Given the description of an element on the screen output the (x, y) to click on. 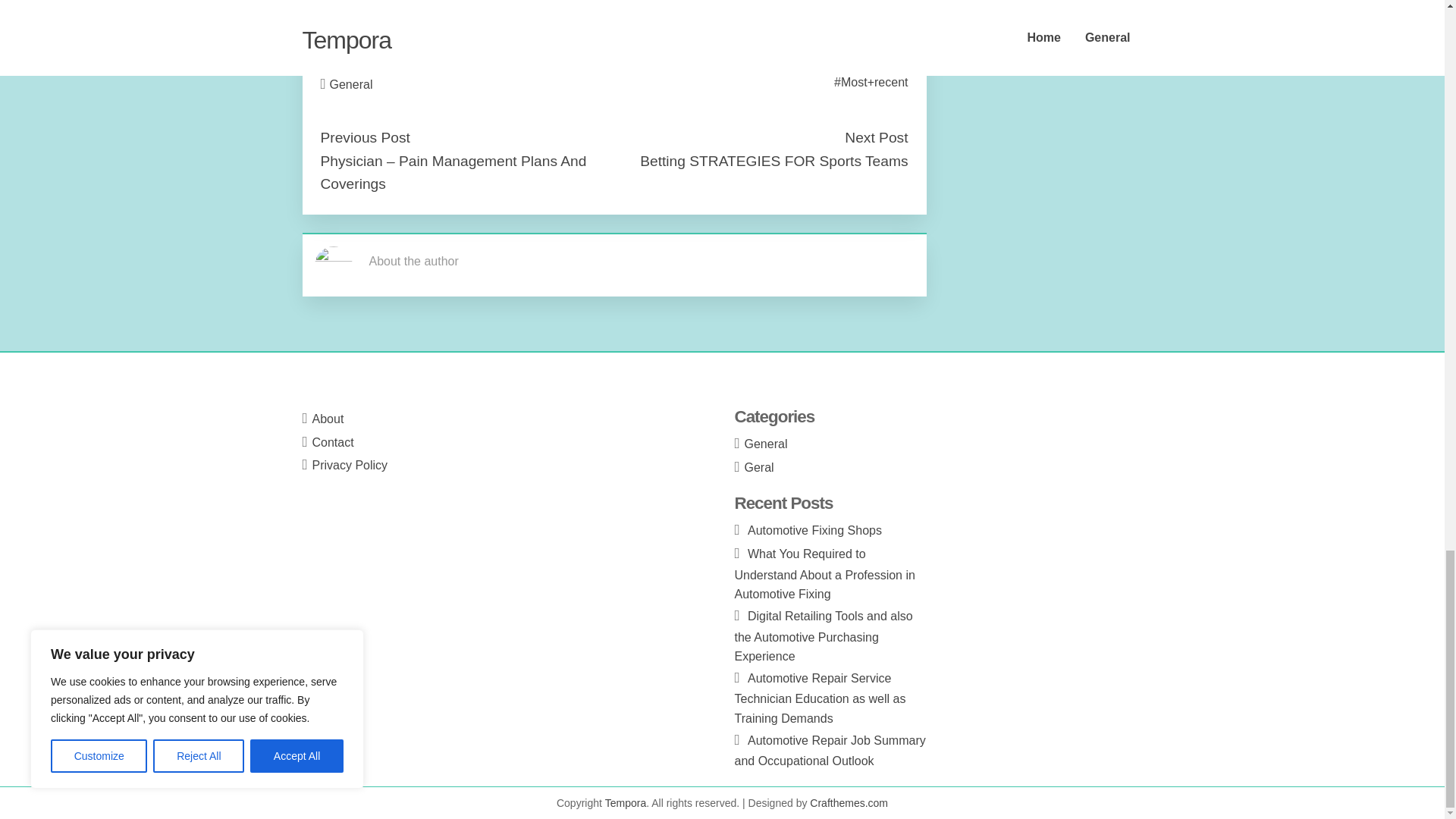
Betting STRATEGIES FOR Sports Teams (773, 160)
Next Post (875, 137)
Previous Post (364, 137)
you can try these out (376, 31)
General (351, 83)
